Given the description of an element on the screen output the (x, y) to click on. 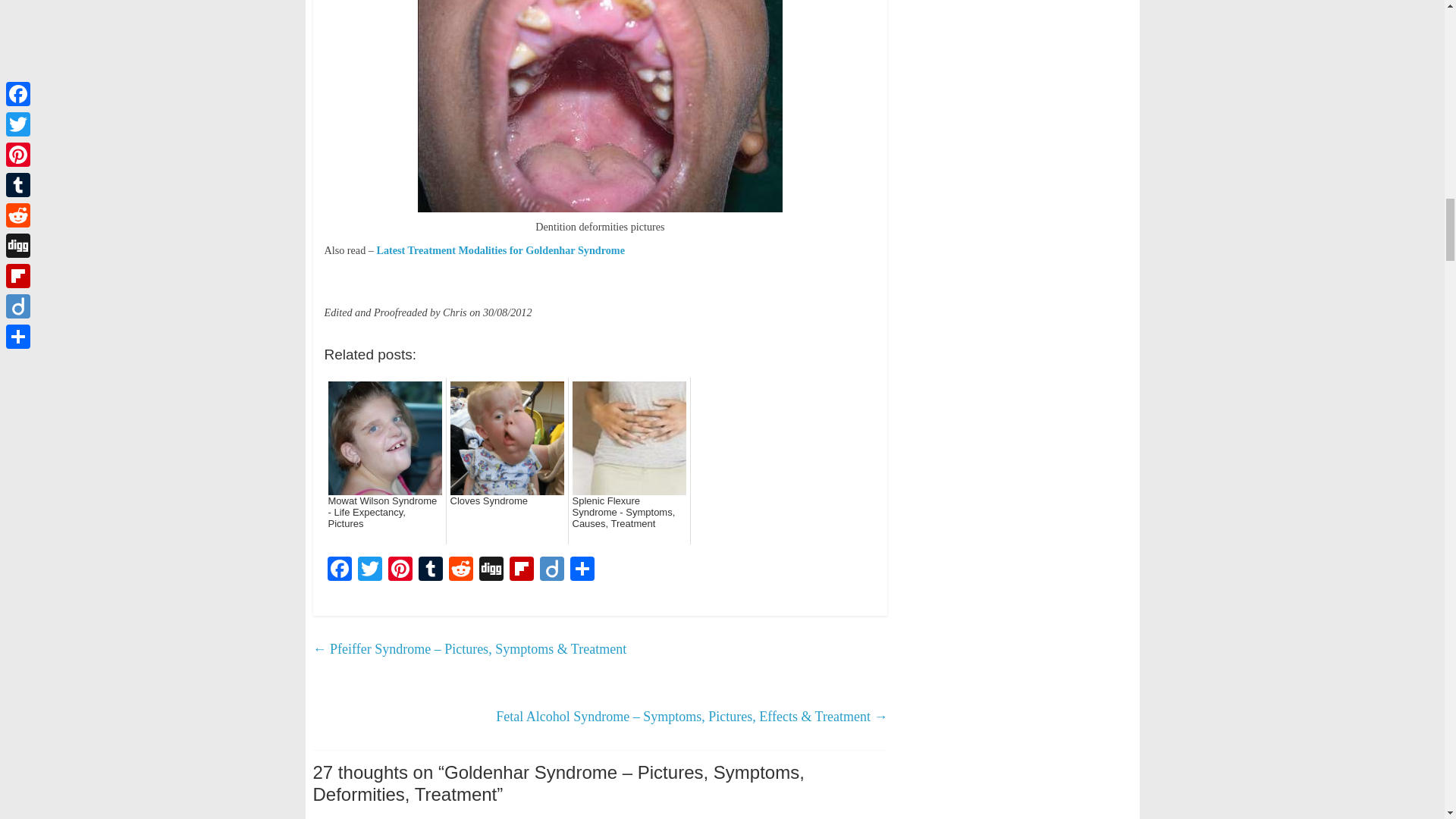
Tumblr (429, 570)
Twitter (370, 570)
Goldenhar Syndrome dental problems (600, 106)
Mowat Wilson Syndrome - Life Expectancy, Pictures (384, 517)
Cloves Syndrome (506, 517)
Facebook (339, 570)
Pinterest (399, 570)
Twitter (370, 570)
Splenic Flexure Syndrome - Symptoms, Causes, Treatment (628, 517)
Share (581, 570)
Facebook (339, 570)
Latest Treatment Modalities for Goldenhar Syndrome (499, 250)
Flipboard (521, 570)
Tumblr (429, 570)
Diigo (552, 570)
